Given the description of an element on the screen output the (x, y) to click on. 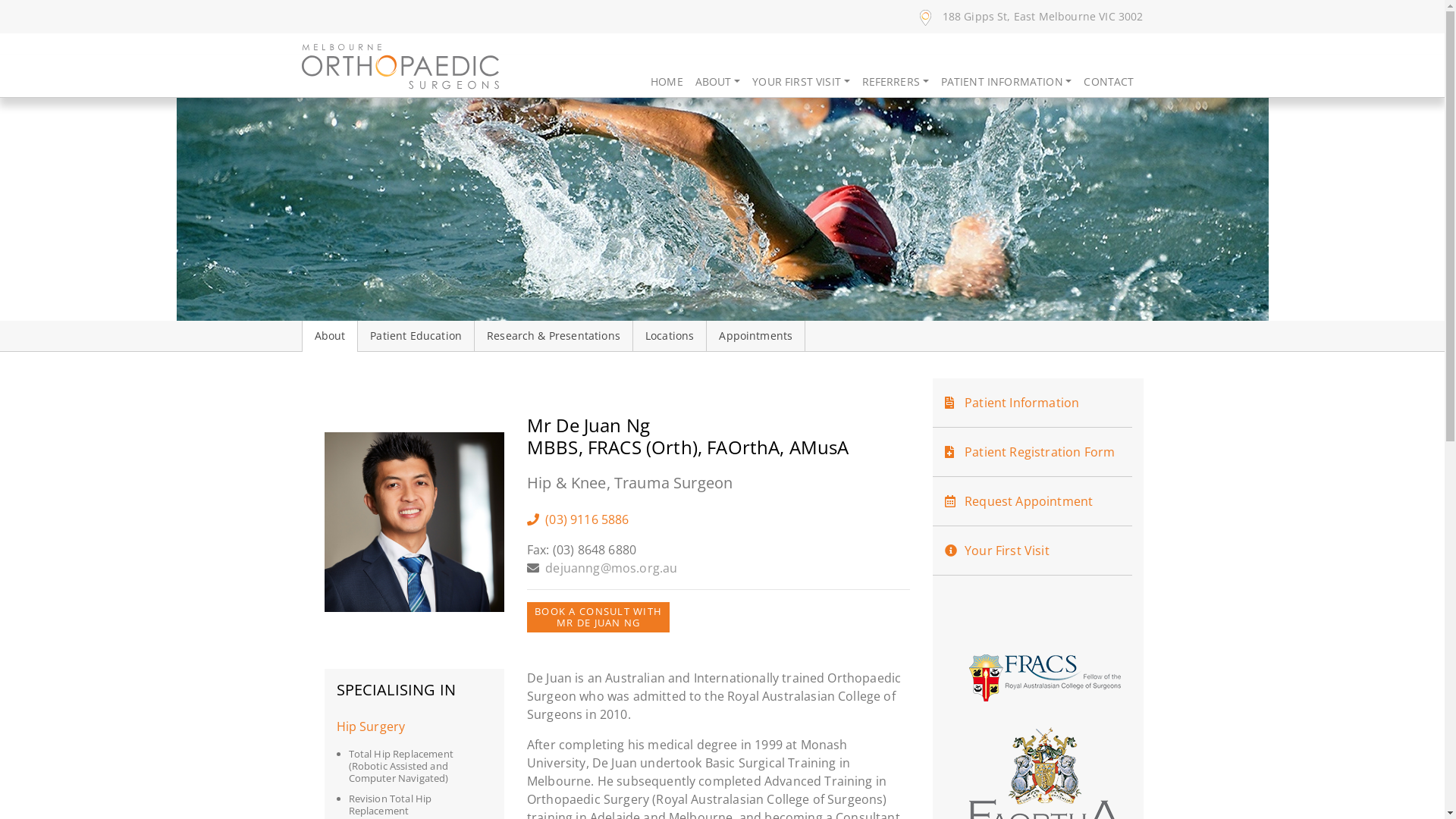
CONTACT Element type: text (1108, 81)
REFERRERS Element type: text (895, 81)
Your First Visit Element type: text (1032, 550)
188 Gipps St, East Melbourne VIC 3002 Element type: text (1031, 16)
BOOK A CONSULT WITH
MR DE JUAN NG Element type: text (598, 617)
HOME Element type: text (666, 81)
Hip Surgery Element type: text (414, 726)
Patient Information Element type: text (1032, 402)
dejuanng@mos.org.au Element type: text (611, 567)
Patient Registration Form Element type: text (1032, 451)
ABOUT Element type: text (717, 81)
PATIENT INFORMATION Element type: text (1006, 81)
Patient Education Element type: text (415, 335)
Locations Element type: text (669, 335)
About Element type: text (329, 335)
YOUR FIRST VISIT Element type: text (800, 81)
Request Appointment Element type: text (1032, 501)
Appointments Element type: text (755, 335)
Research & Presentations Element type: text (553, 335)
